Given the description of an element on the screen output the (x, y) to click on. 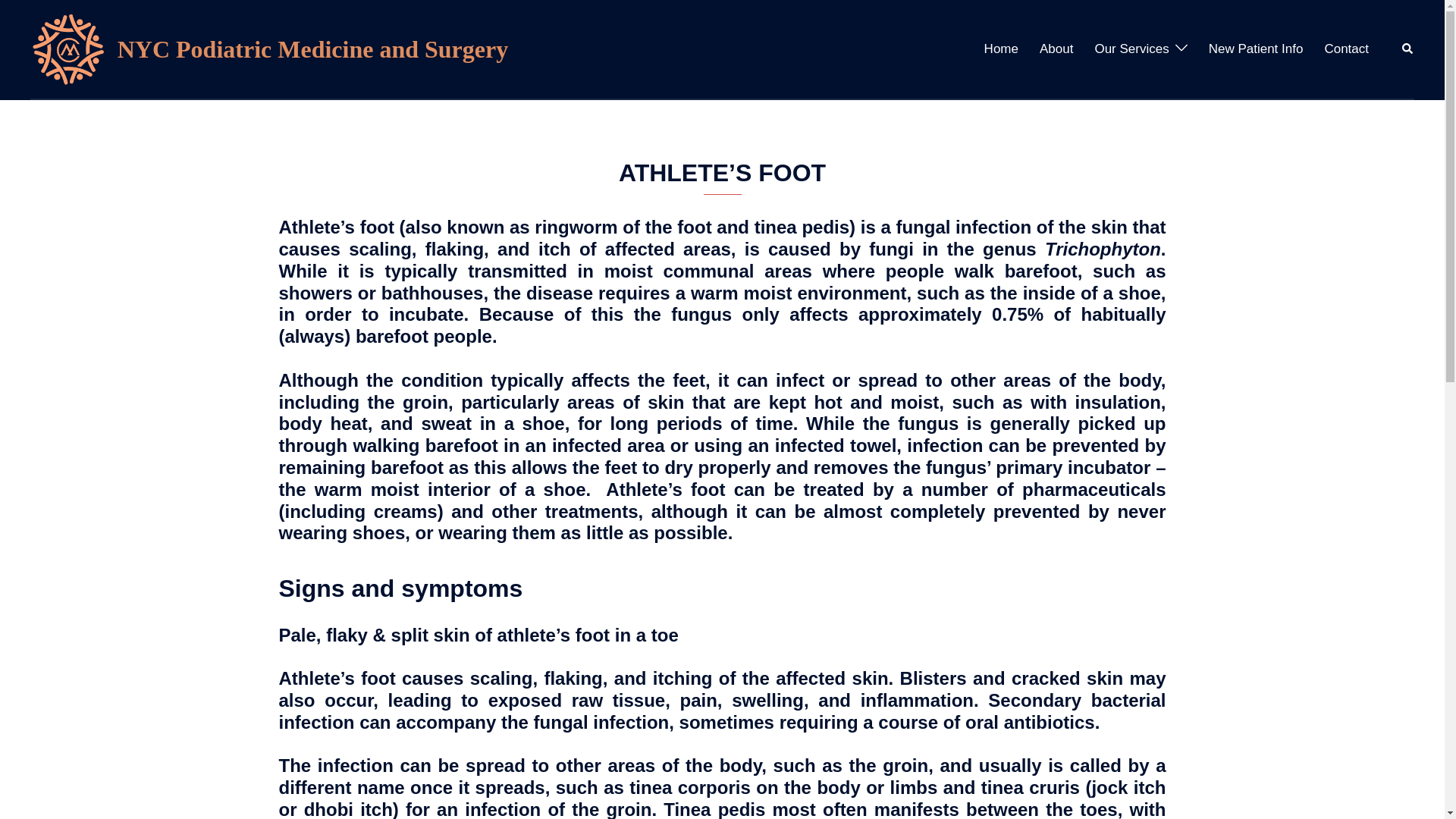
NYC Podiatric Medicine and Surgery (68, 48)
Our Services (1131, 49)
About (1056, 49)
New Patient Info (1255, 49)
Search (1407, 49)
NYC Podiatric Medicine and Surgery (312, 49)
Home (1000, 49)
Contact (1345, 49)
